Given the description of an element on the screen output the (x, y) to click on. 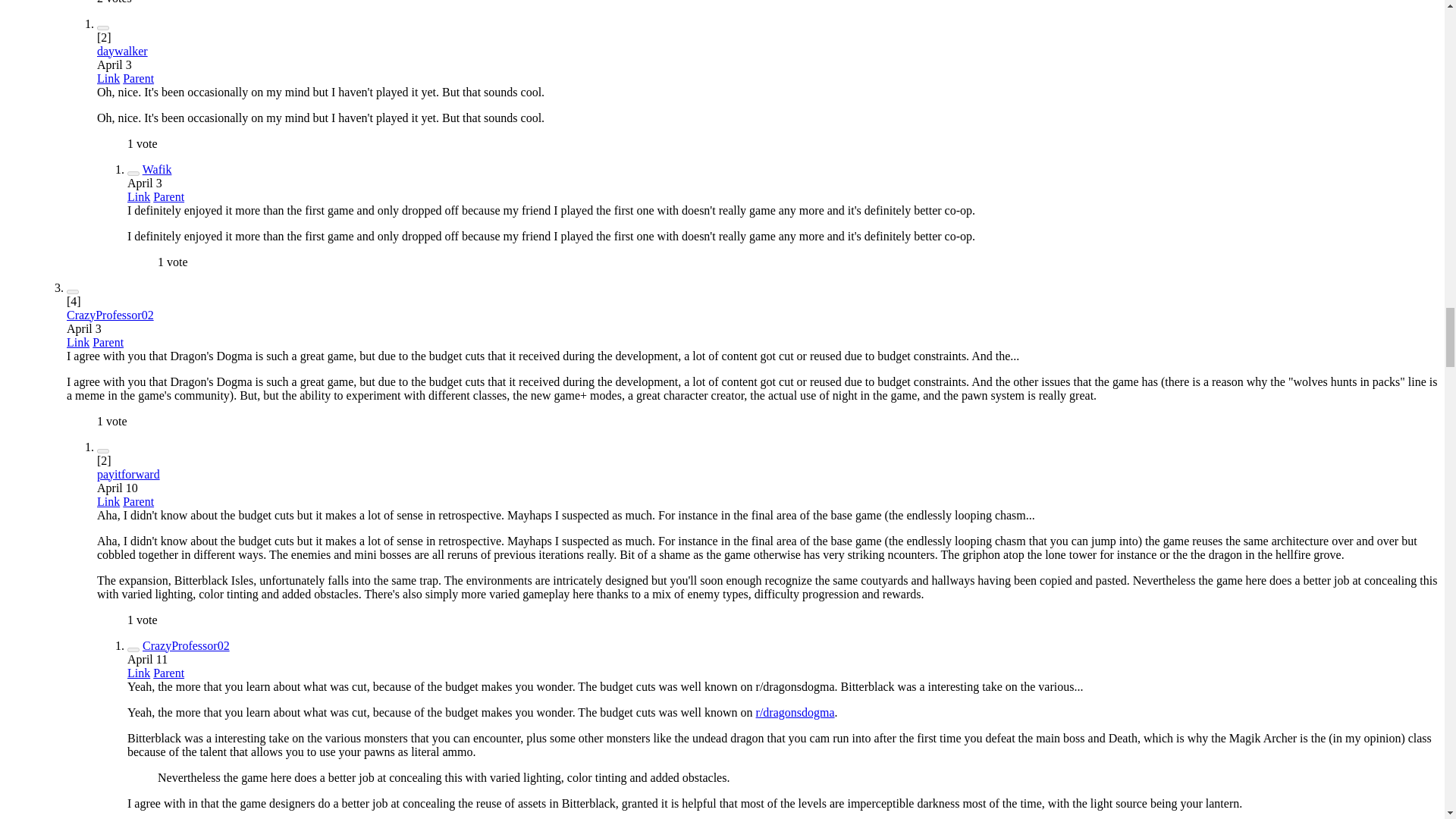
2024-04-03 12:17:31 UTC (114, 64)
